Given the description of an element on the screen output the (x, y) to click on. 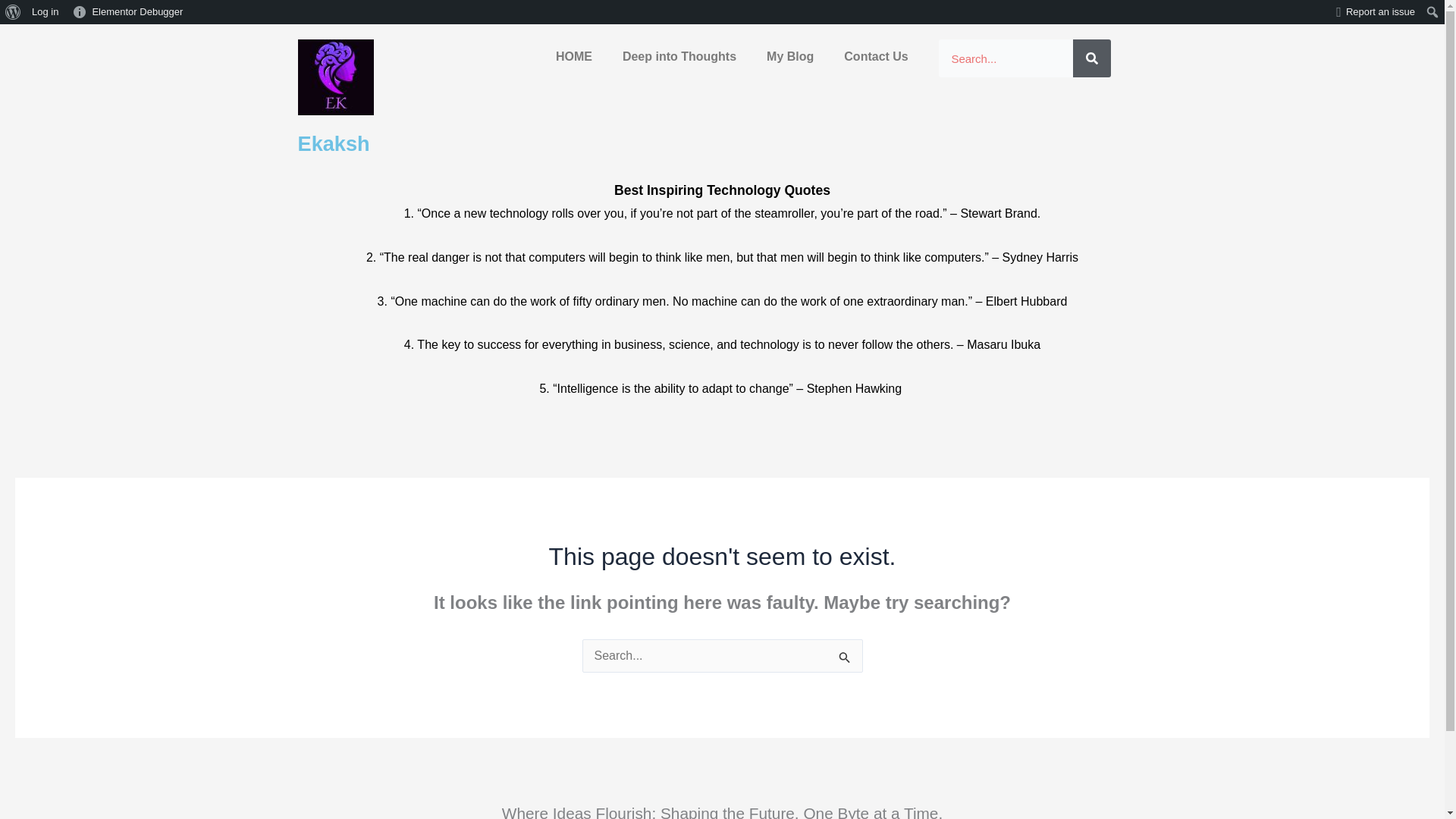
Search (1091, 57)
My Blog (789, 56)
Log in (45, 12)
Contact Us (875, 56)
Search (15, 12)
HOME (573, 56)
Ekaksh (333, 143)
Deep into Thoughts (679, 56)
Report an issue (1375, 12)
